Given the description of an element on the screen output the (x, y) to click on. 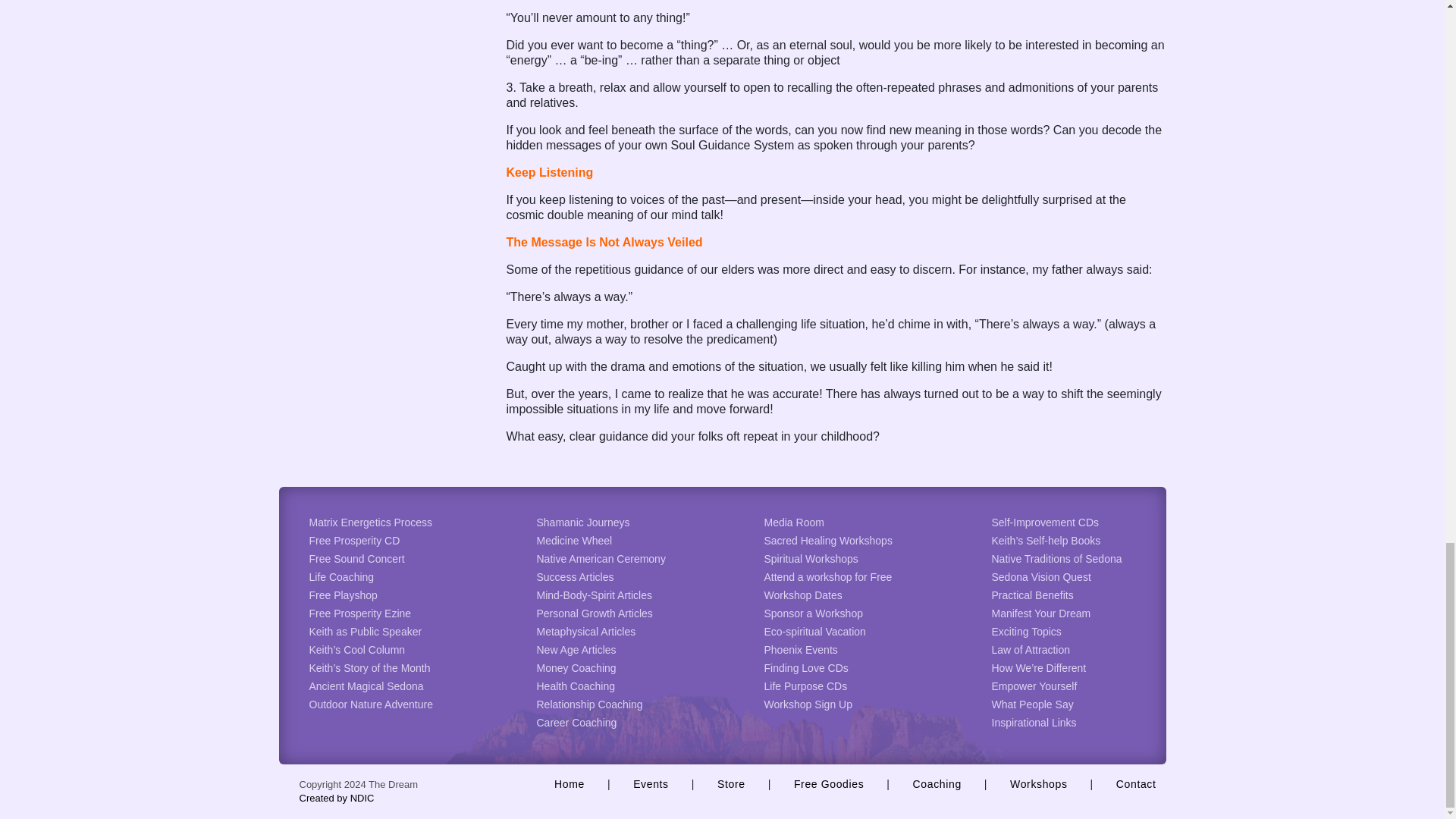
Medicine Wheel (574, 540)
Outdoor Nature Adventure (370, 704)
Keith as Public Speaker (365, 631)
Free Prosperity CD (354, 540)
Shamanic Journeys (583, 522)
Free Prosperity Ezine (360, 613)
Free Playshop (342, 594)
Ancient Magical Sedona (365, 686)
Life Coaching (341, 576)
Native American Ceremony (601, 558)
Matrix Energetics Process (370, 522)
Success Articles (575, 576)
Free Sound Concert (356, 558)
Personal Growth Articles (594, 613)
Mind-Body-Spirit Articles (594, 594)
